Given the description of an element on the screen output the (x, y) to click on. 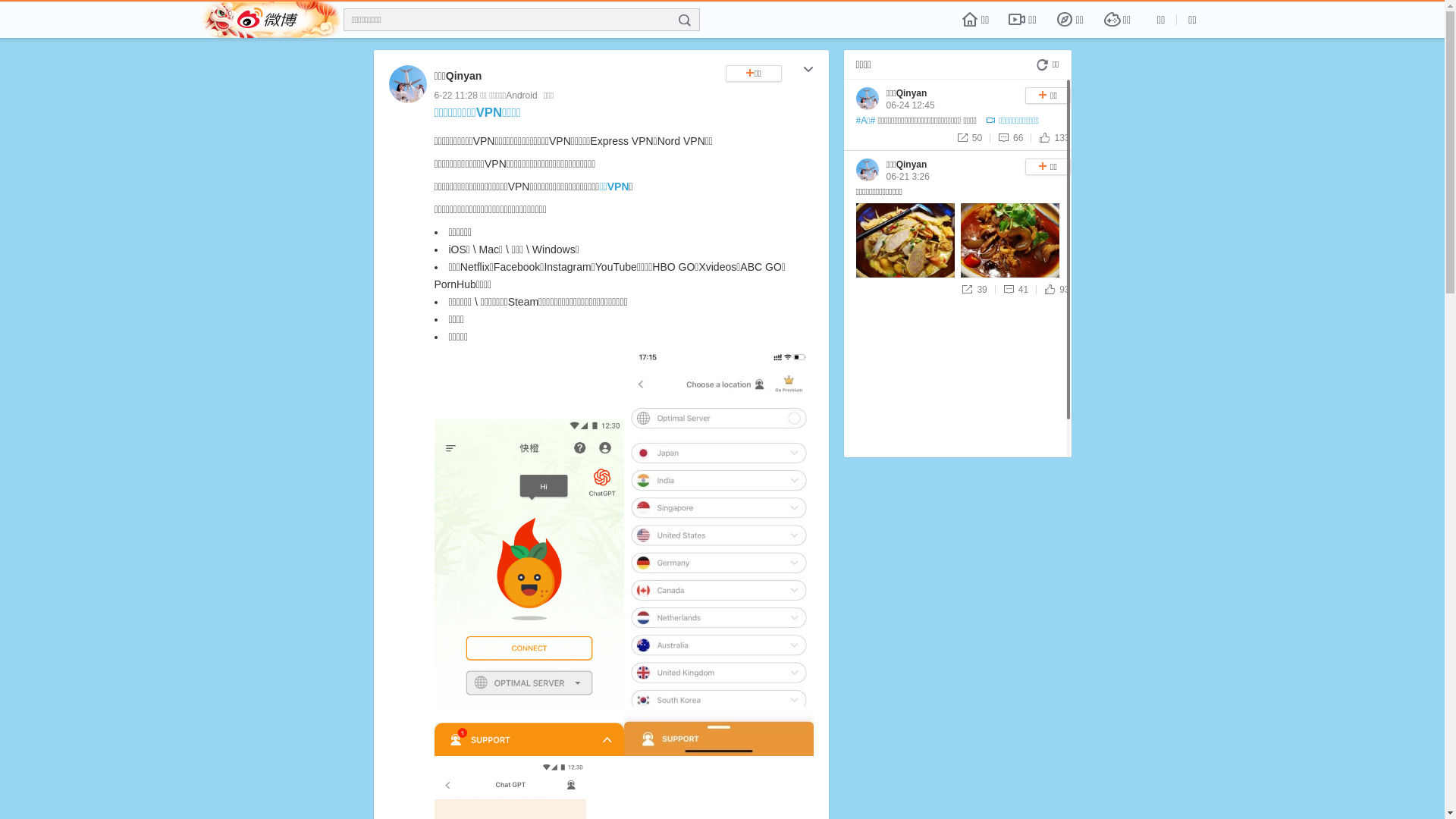
06-21 3:26 Element type: text (906, 176)
f Element type: text (684, 20)
06-24 12:45 Element type: text (909, 105)
6-22 11:28 Element type: text (454, 95)
c Element type: text (808, 70)
